Given the description of an element on the screen output the (x, y) to click on. 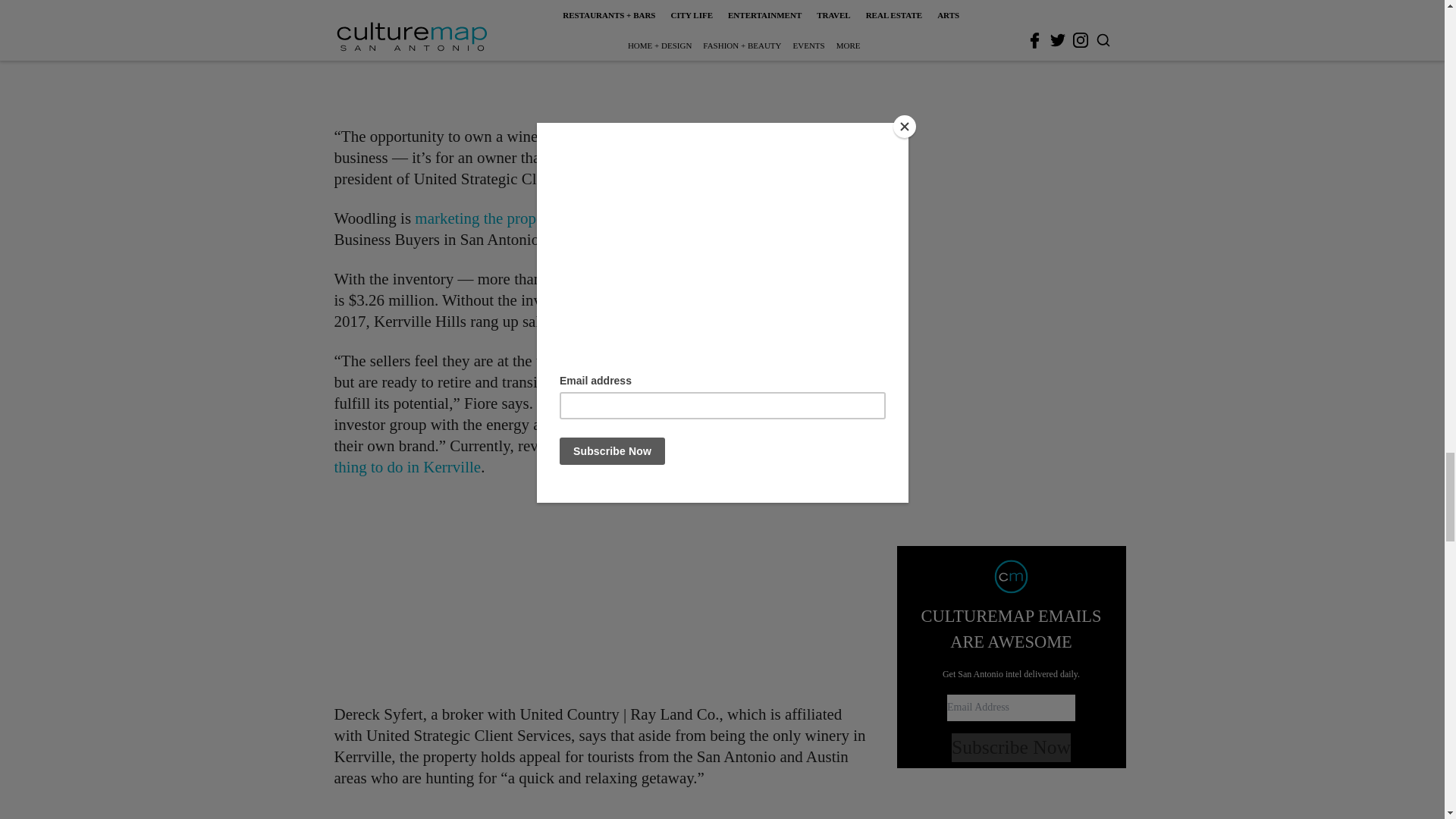
3rd party ad content (600, 53)
